Given the description of an element on the screen output the (x, y) to click on. 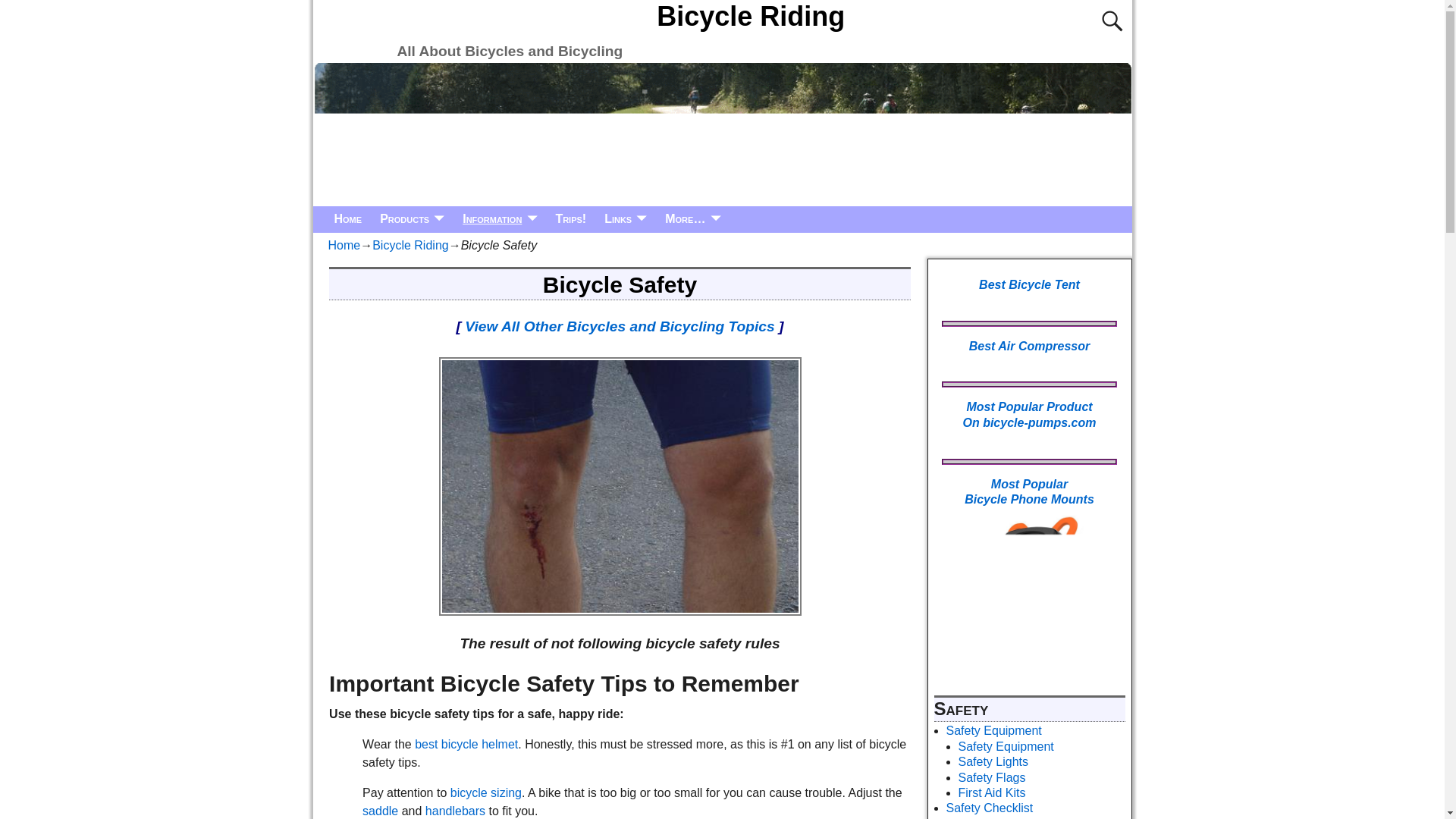
Links (625, 219)
Trips! (570, 219)
Home (347, 219)
Bicycle Safety (619, 486)
Information (499, 219)
Bicycle Riding (750, 15)
Products (411, 219)
Bicycle Riding (750, 15)
